Given the description of an element on the screen output the (x, y) to click on. 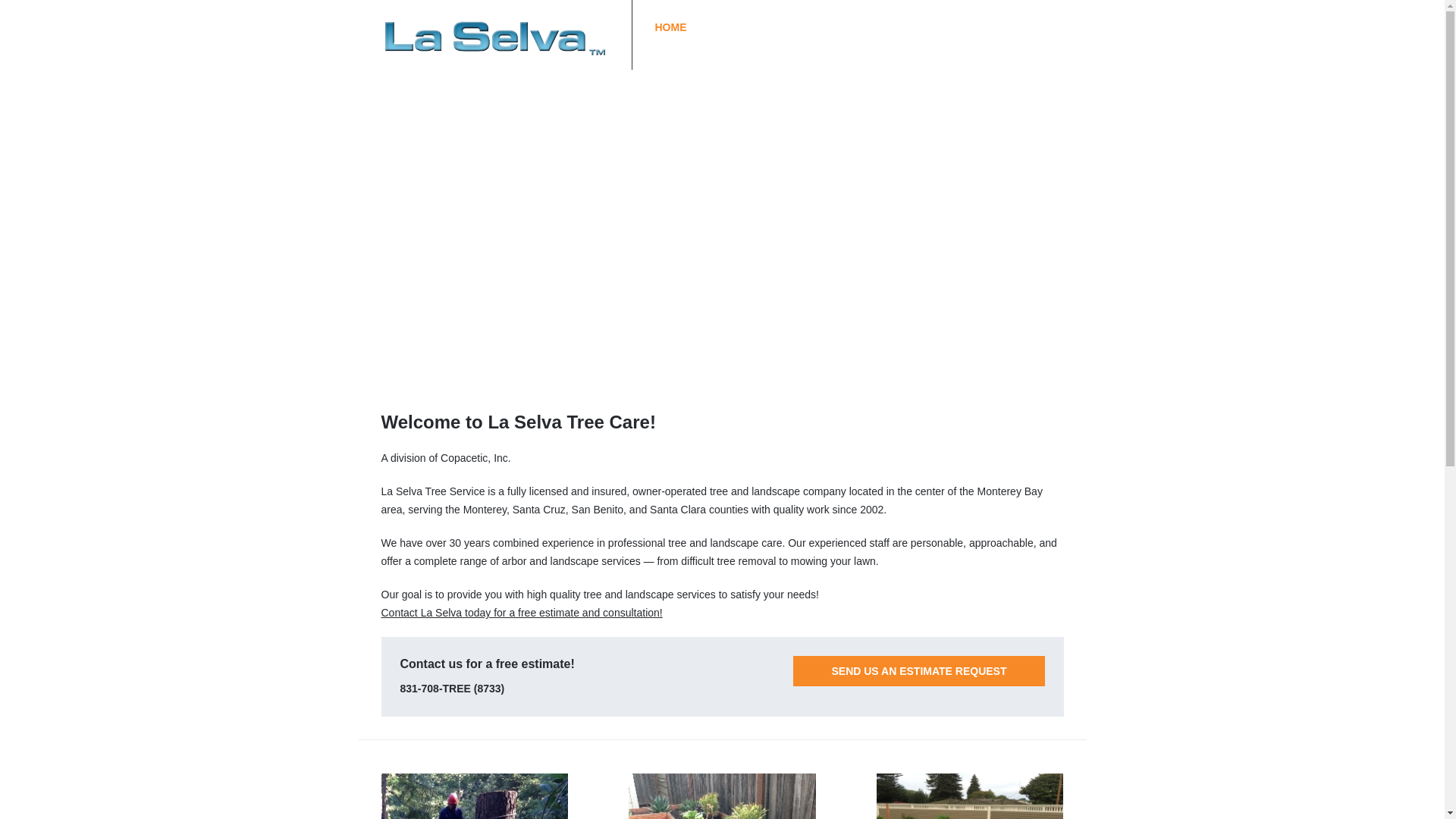
ABOUT US (736, 27)
SEND US AN ESTIMATE REQUEST (918, 671)
HOME (670, 27)
OUR SERVICES (827, 27)
CONTACT US (997, 27)
Contact La Selva today for a free estimate and consultation! (521, 612)
GALLERY (915, 27)
